Given the description of an element on the screen output the (x, y) to click on. 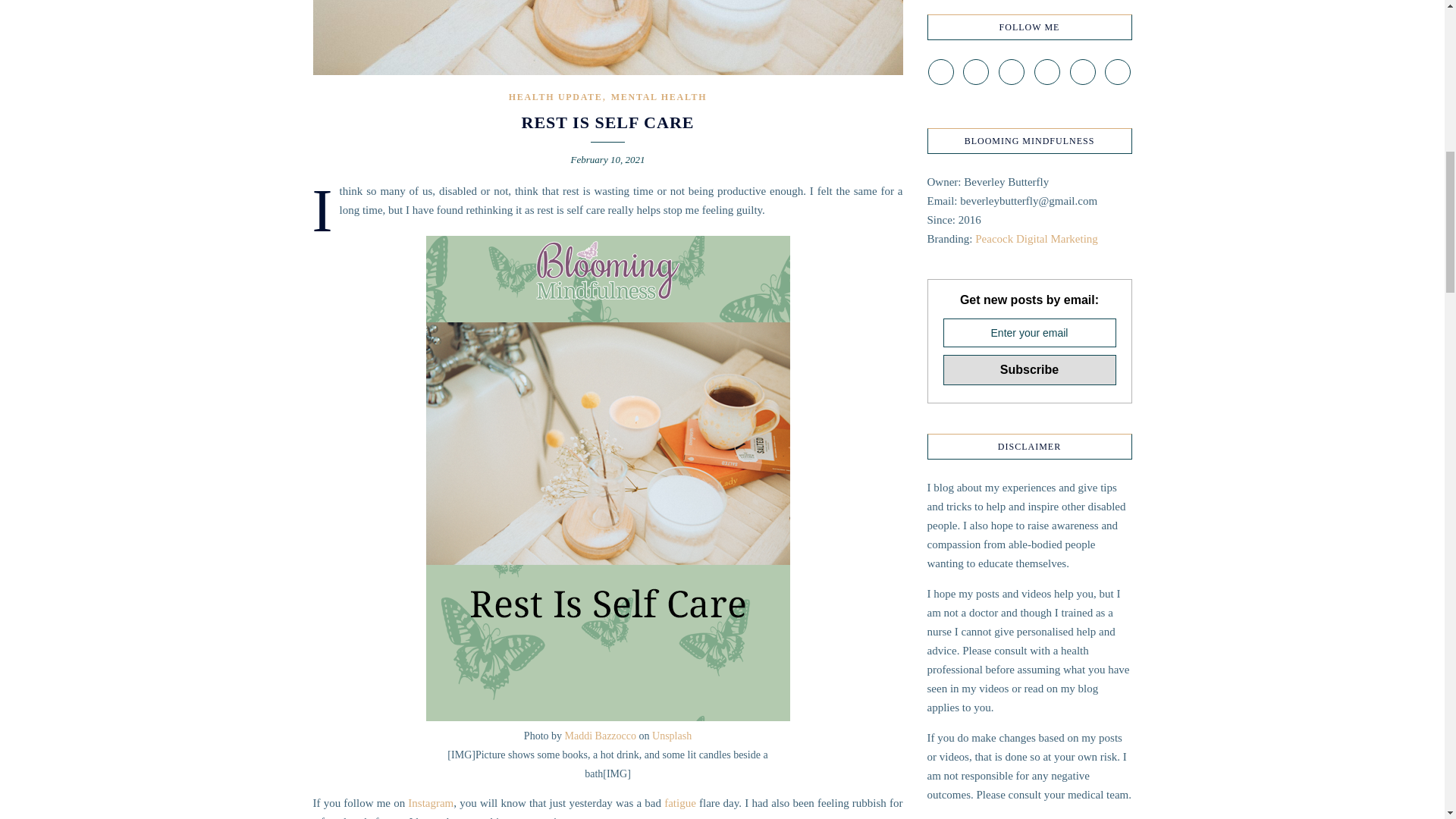
MENTAL HEALTH (658, 96)
Unsplash (671, 736)
HEALTH UPDATE (555, 96)
Instagram (429, 802)
Maddi Bazzocco (600, 736)
fatigue (679, 802)
Subscribe (1029, 369)
